Given the description of an element on the screen output the (x, y) to click on. 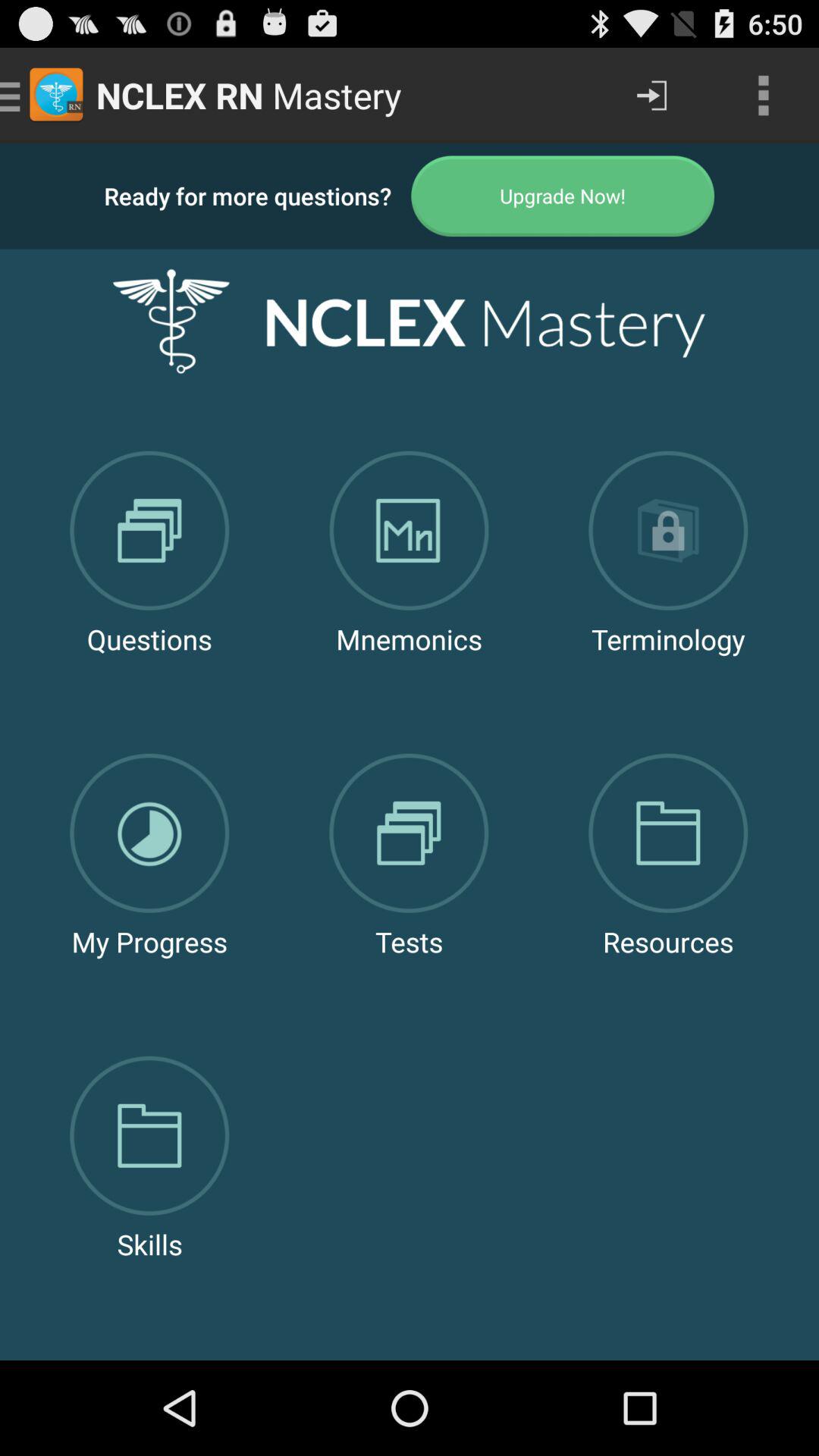
tap the icon to the right of nclex rn mastery item (651, 95)
